Given the description of an element on the screen output the (x, y) to click on. 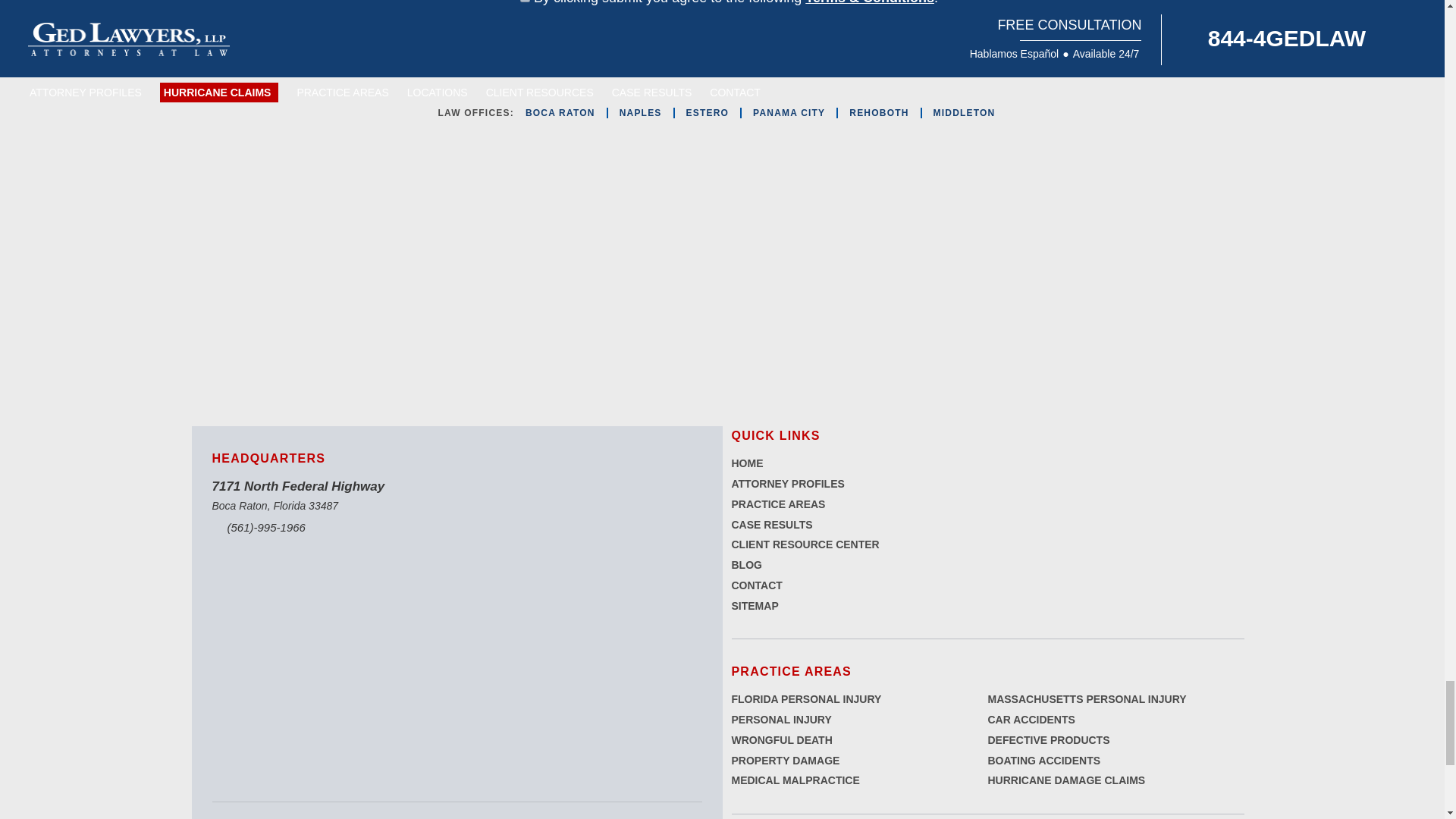
phone (330, 527)
Ged Lawyers, LLP Attorneys At Law (323, 268)
